Given the description of an element on the screen output the (x, y) to click on. 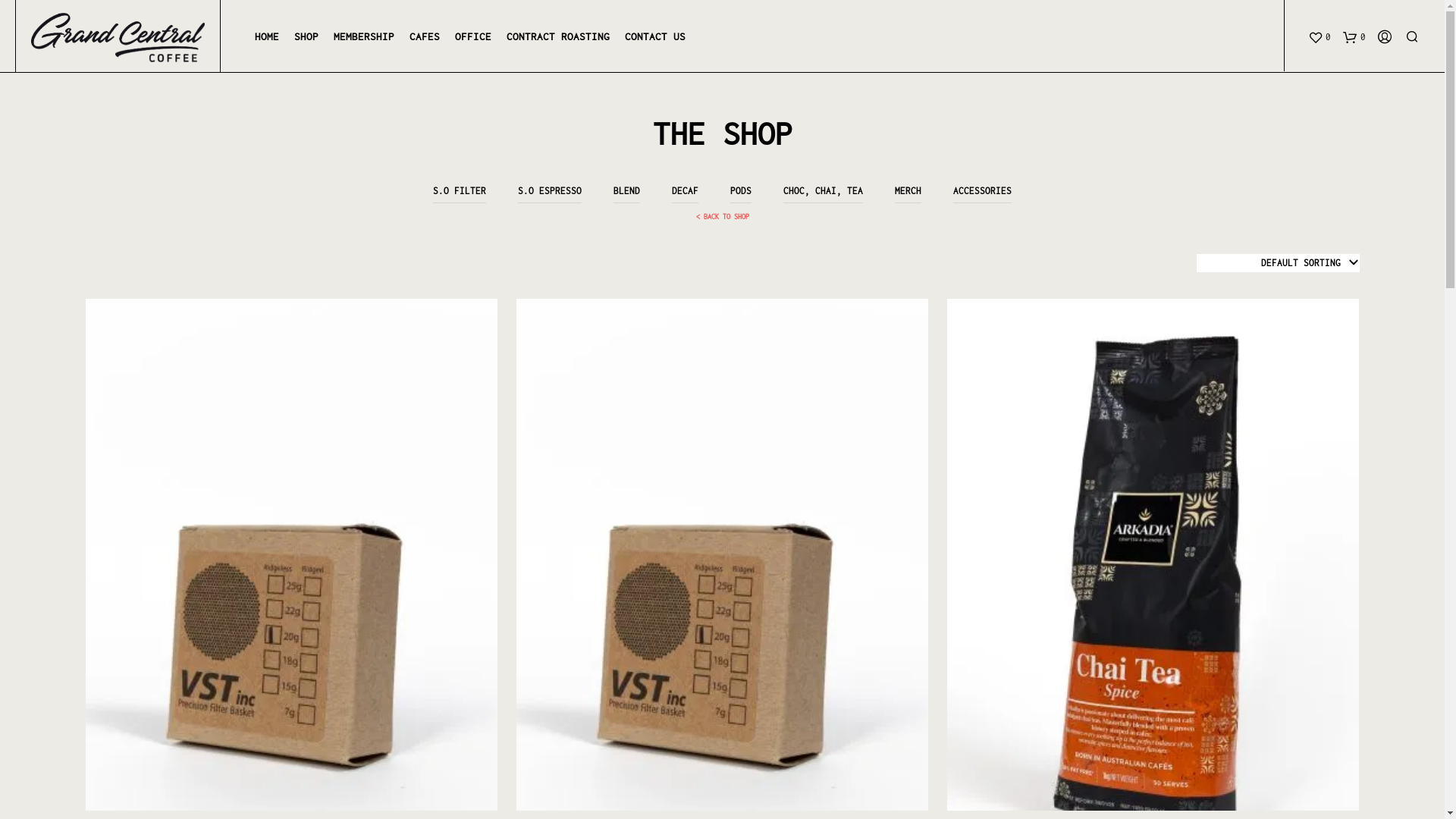
S.O ESPRESSO Element type: text (549, 191)
Award-winning Perth Coffee Beans Element type: hover (117, 37)
S.O FILTER Element type: text (459, 191)
DECAF Element type: text (684, 191)
< BACK TO SHOP Element type: text (722, 216)
MERCH Element type: text (907, 191)
PODS Element type: text (740, 191)
HOME Element type: text (266, 36)
0 Element type: text (1319, 36)
CONTRACT ROASTING Element type: text (557, 36)
0 Element type: text (1354, 36)
SHOP Element type: text (306, 36)
BLEND Element type: text (626, 191)
CHOC, CHAI, TEA Element type: text (822, 191)
CONTACT US Element type: text (655, 36)
ACCESSORIES Element type: text (982, 191)
CAFES Element type: text (424, 36)
MEMBERSHIP Element type: text (363, 36)
OFFICE Element type: text (472, 36)
